Given the description of an element on the screen output the (x, y) to click on. 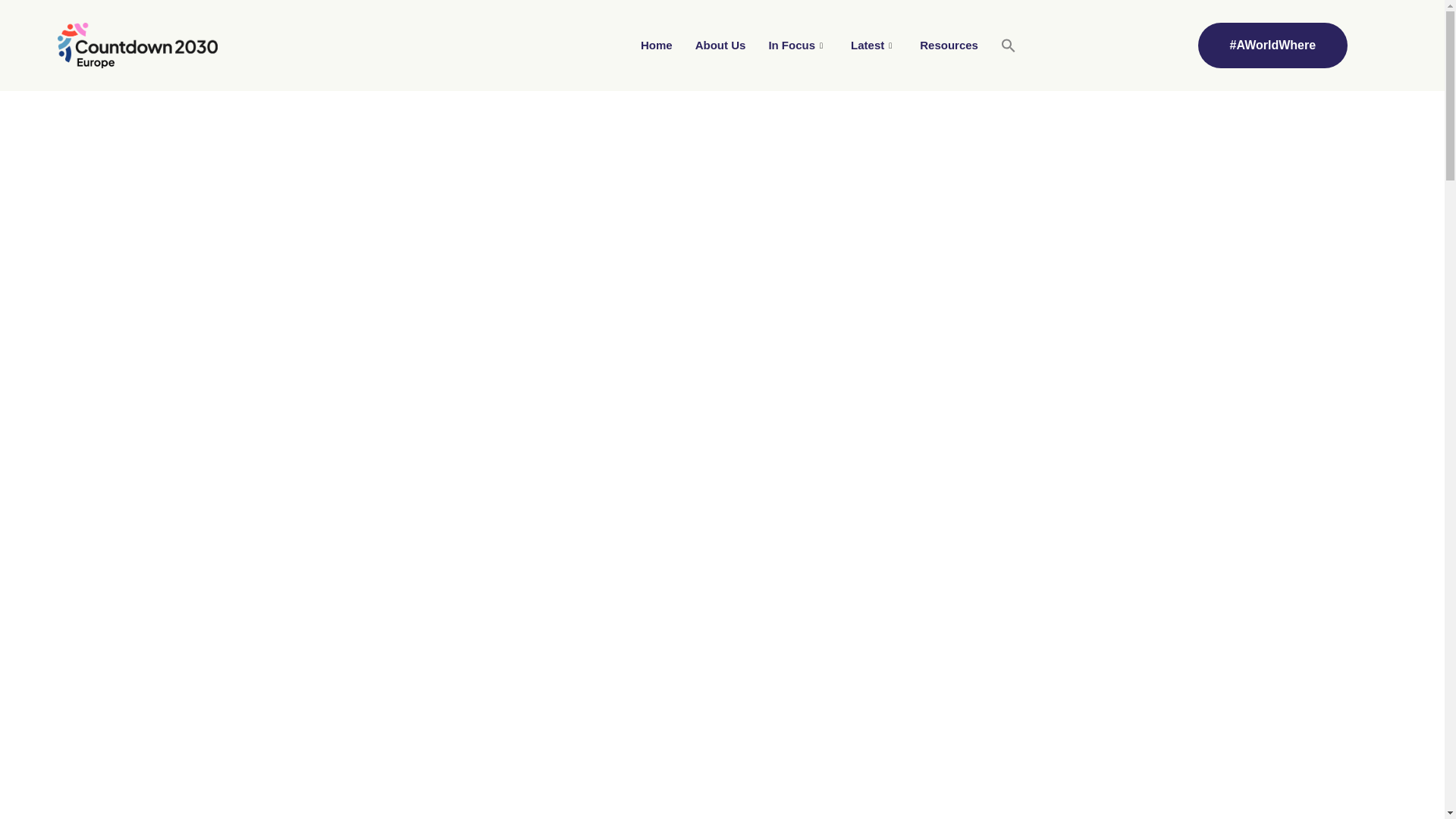
About Us (720, 45)
Latest (874, 45)
In Focus (798, 45)
Resources (949, 45)
Home (656, 45)
